Given the description of an element on the screen output the (x, y) to click on. 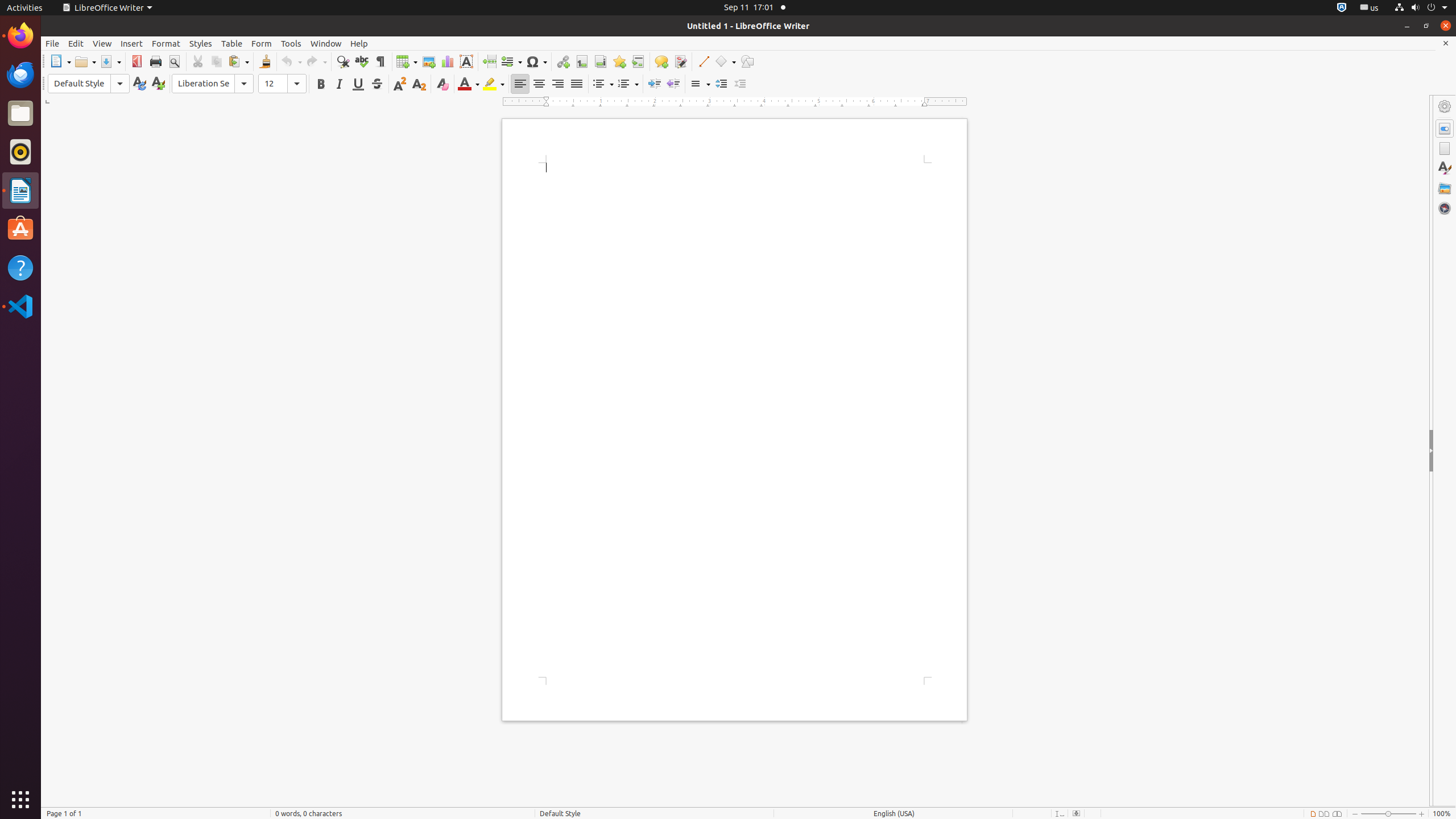
Insert Element type: menu (131, 43)
Center Element type: toggle-button (538, 83)
View Element type: menu (102, 43)
